Given the description of an element on the screen output the (x, y) to click on. 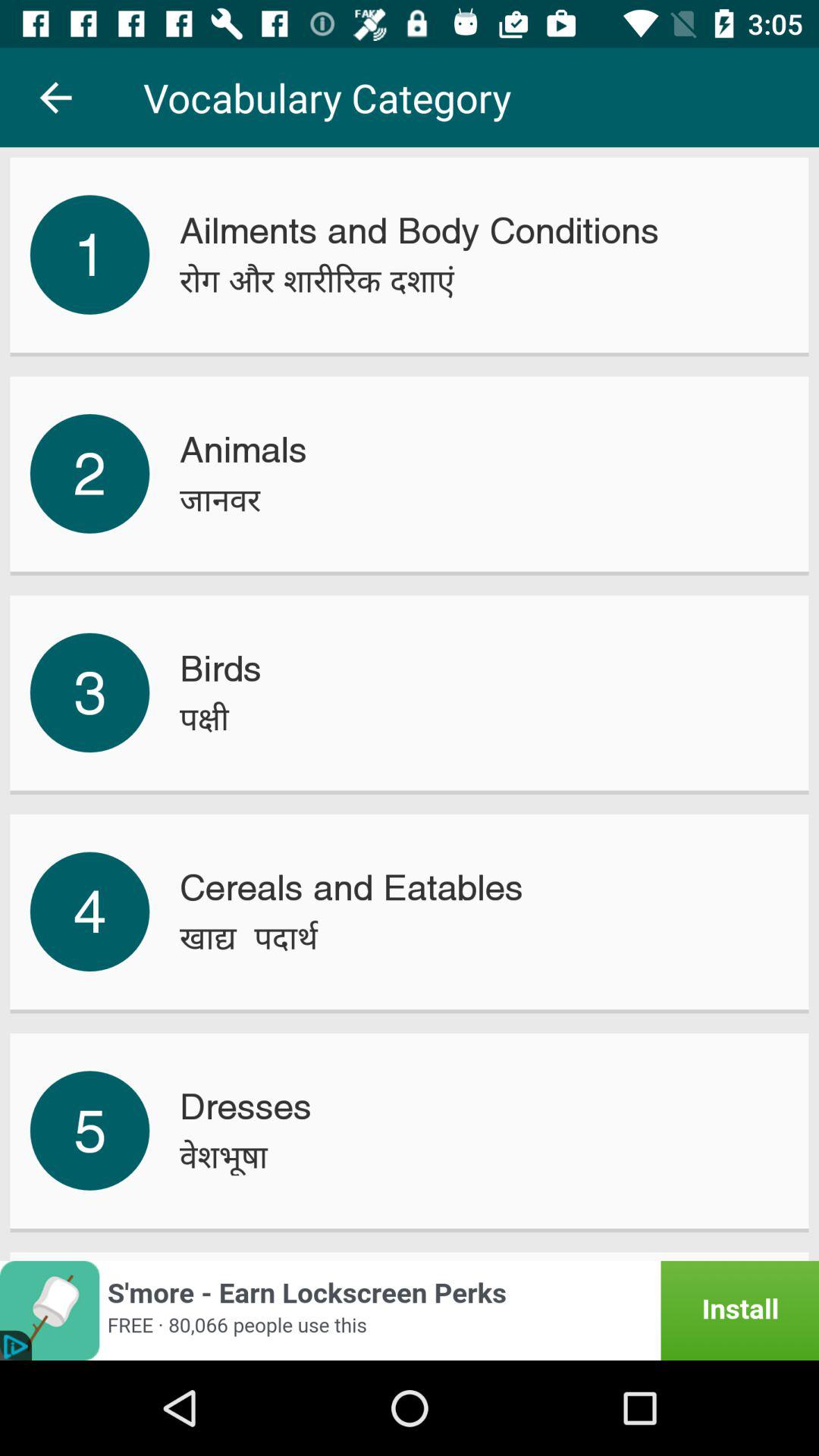
choose icon to the right of the 2 (243, 449)
